Given the description of an element on the screen output the (x, y) to click on. 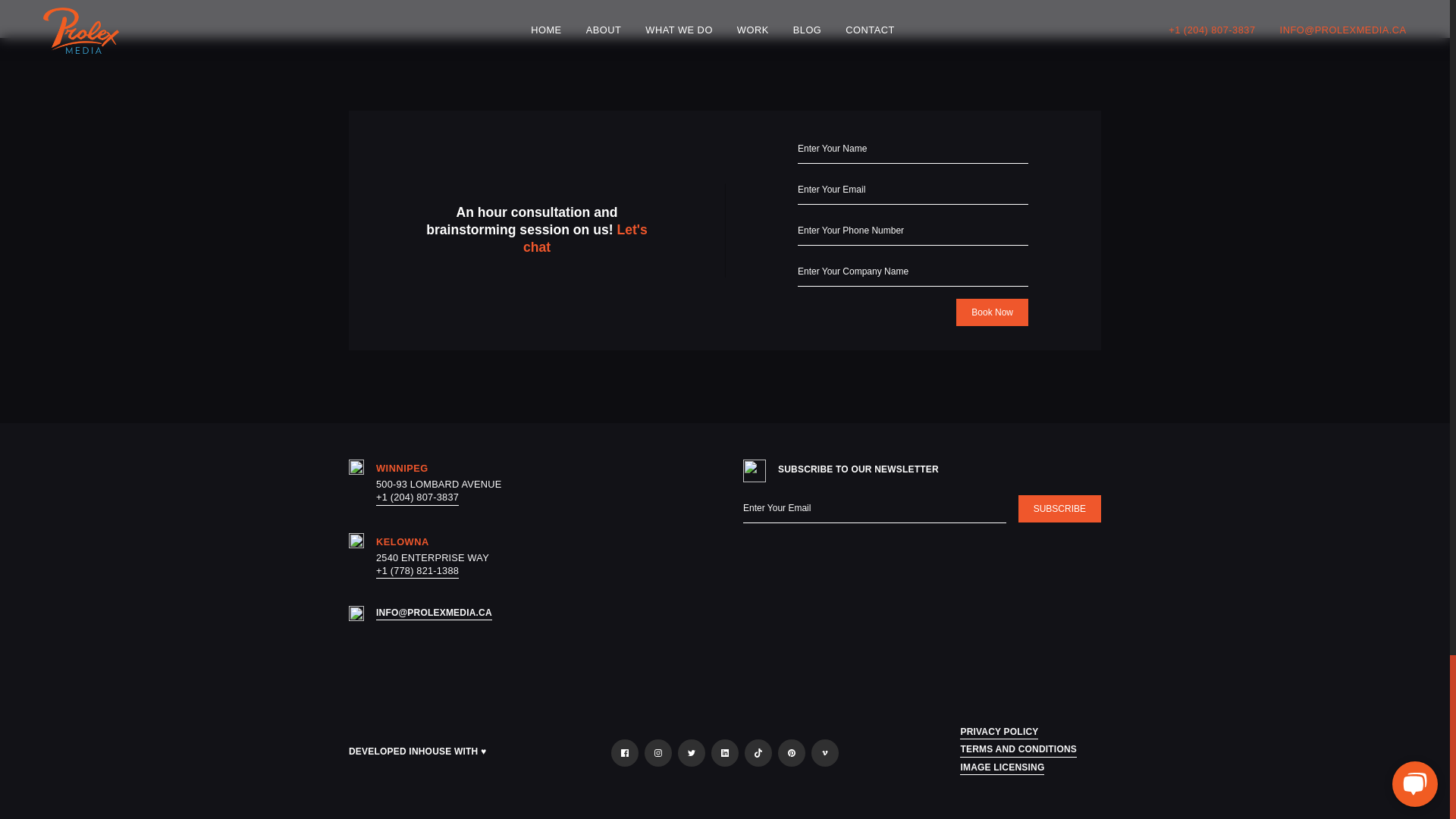
PRIVACY POLICY (998, 733)
SUBSCRIBE (1058, 508)
TERMS AND CONDITIONS (1018, 750)
IMAGE LICENSING (1001, 768)
2540 ENTERPRISE WAY (432, 557)
Book Now (991, 311)
SUBSCRIBE (1058, 508)
500-93 LOMBARD AVENUE (437, 483)
